Given the description of an element on the screen output the (x, y) to click on. 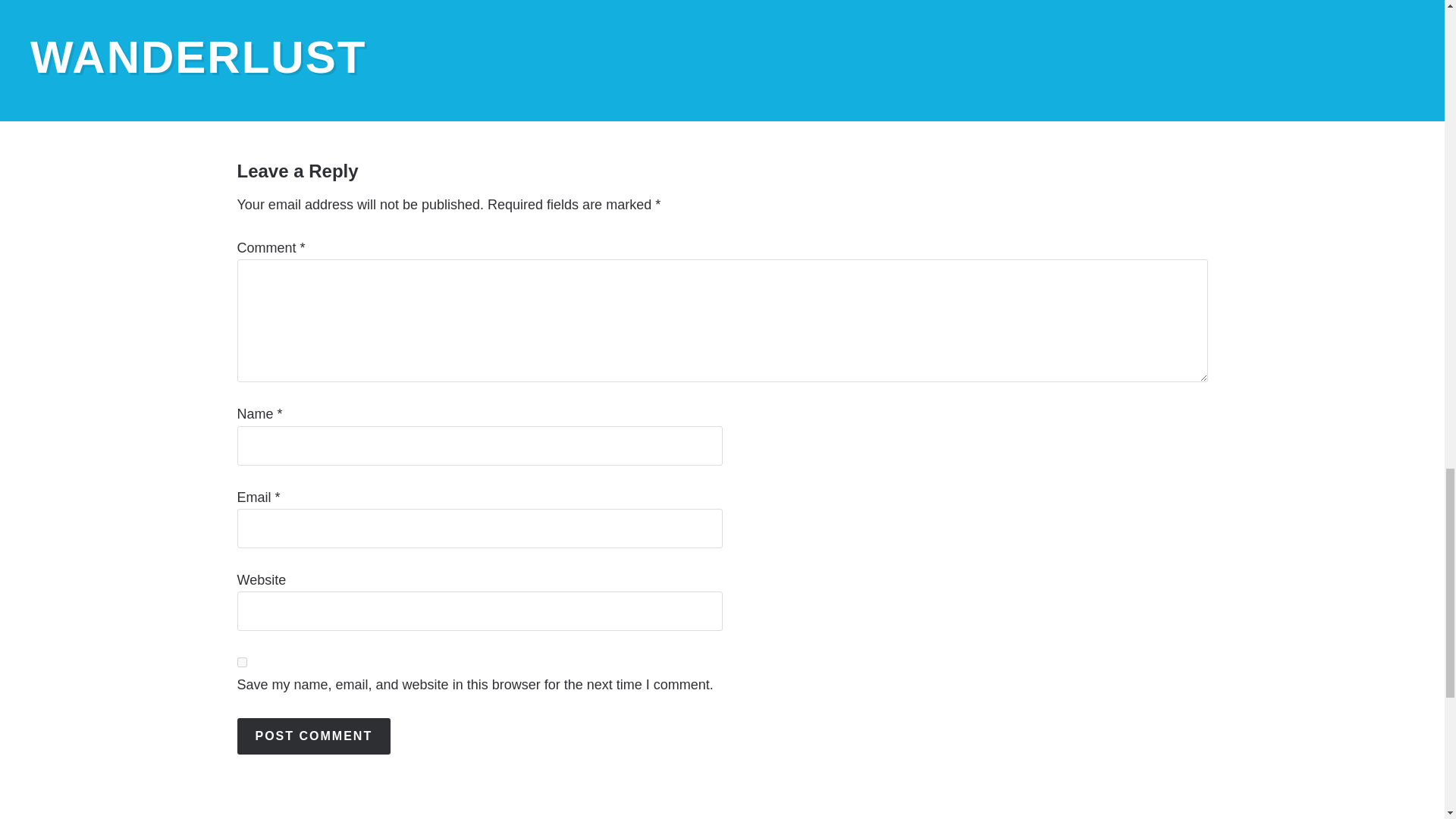
Uncategorized (368, 30)
Post Comment (312, 736)
Post Comment (312, 736)
yes (240, 662)
